Given the description of an element on the screen output the (x, y) to click on. 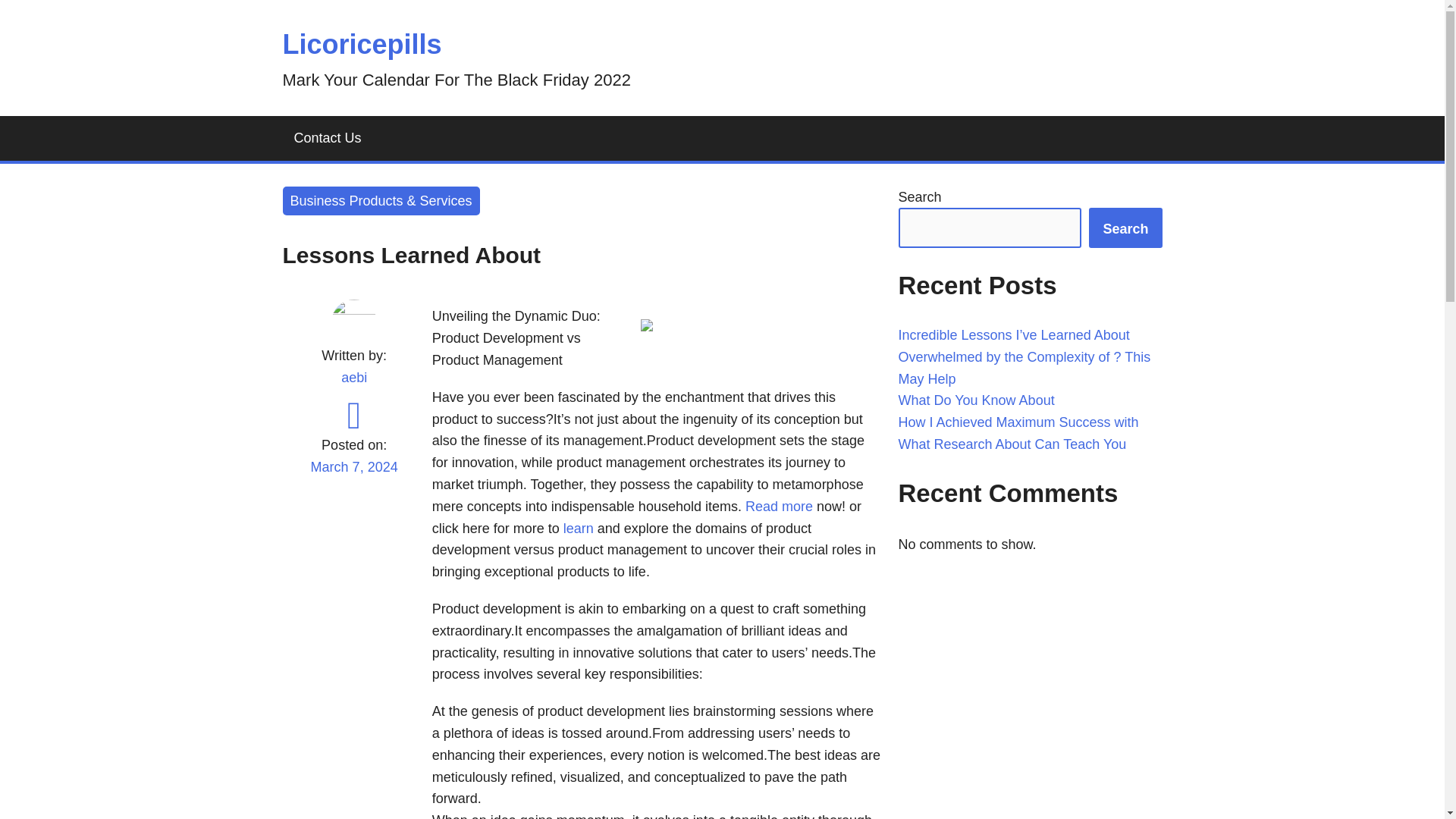
March 7, 2024 (353, 476)
learn (576, 528)
What Do You Know About (976, 400)
How I Achieved Maximum Success with (1018, 421)
What Research About Can Teach You (1011, 444)
aebi (353, 377)
Licoricepills (361, 43)
Search (1125, 228)
Overwhelmed by the Complexity of ? This May Help (1024, 367)
Read more (778, 506)
Contact Us (327, 138)
